Given the description of an element on the screen output the (x, y) to click on. 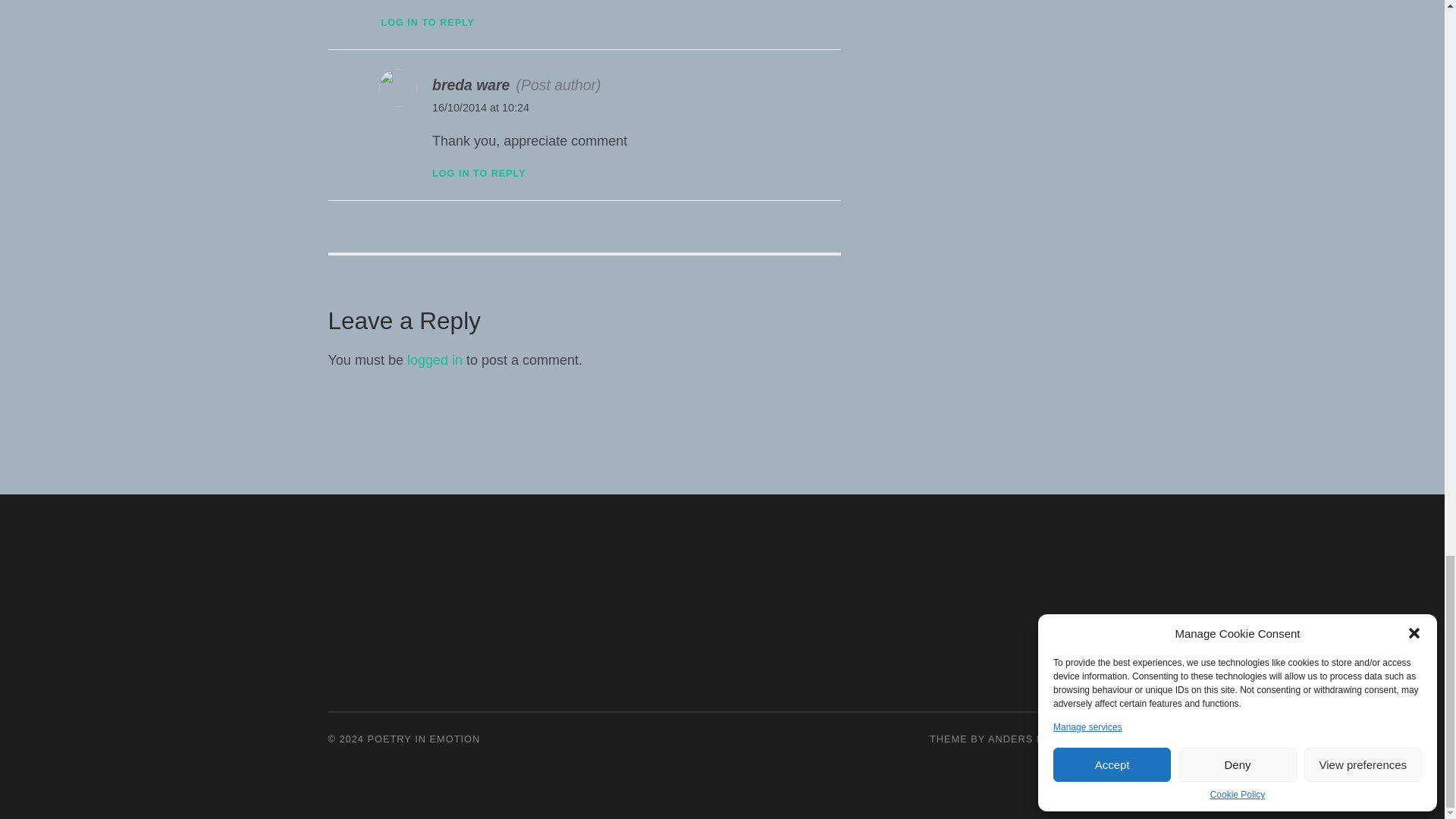
To the top (1104, 738)
LOG IN TO REPLY (427, 22)
